Given the description of an element on the screen output the (x, y) to click on. 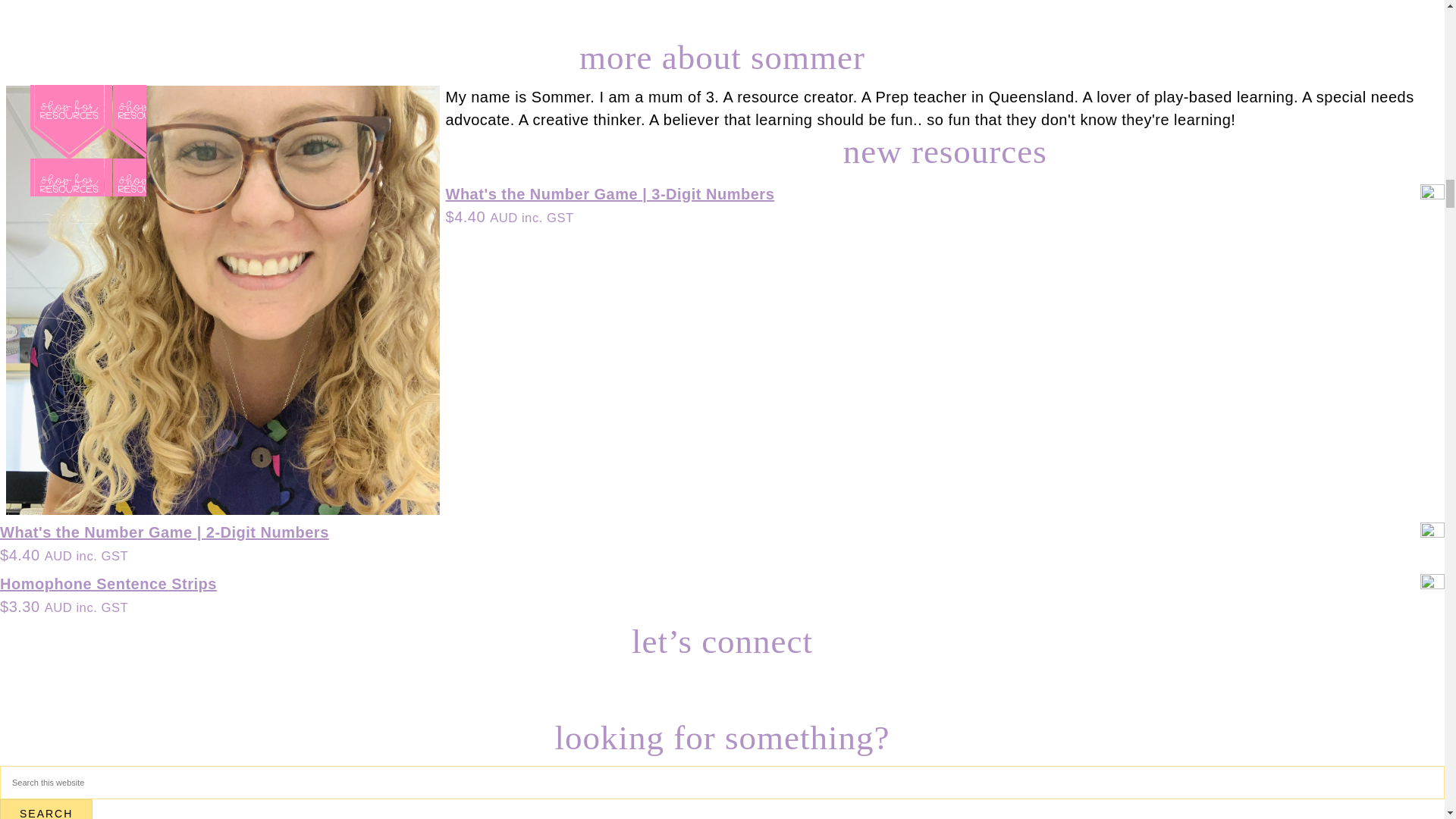
Search (46, 809)
Search (46, 809)
